Given the description of an element on the screen output the (x, y) to click on. 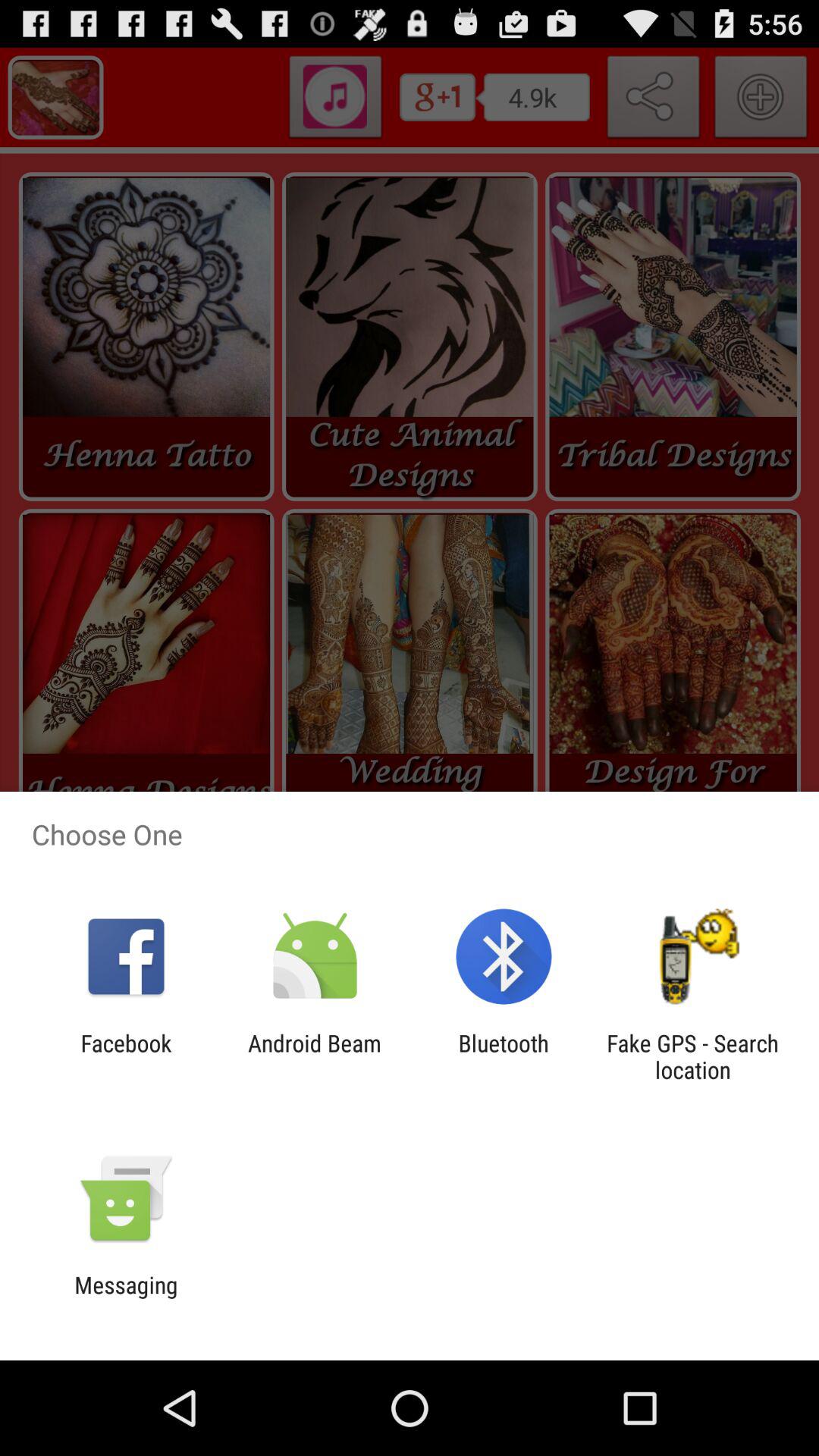
press icon next to facebook icon (314, 1056)
